Given the description of an element on the screen output the (x, y) to click on. 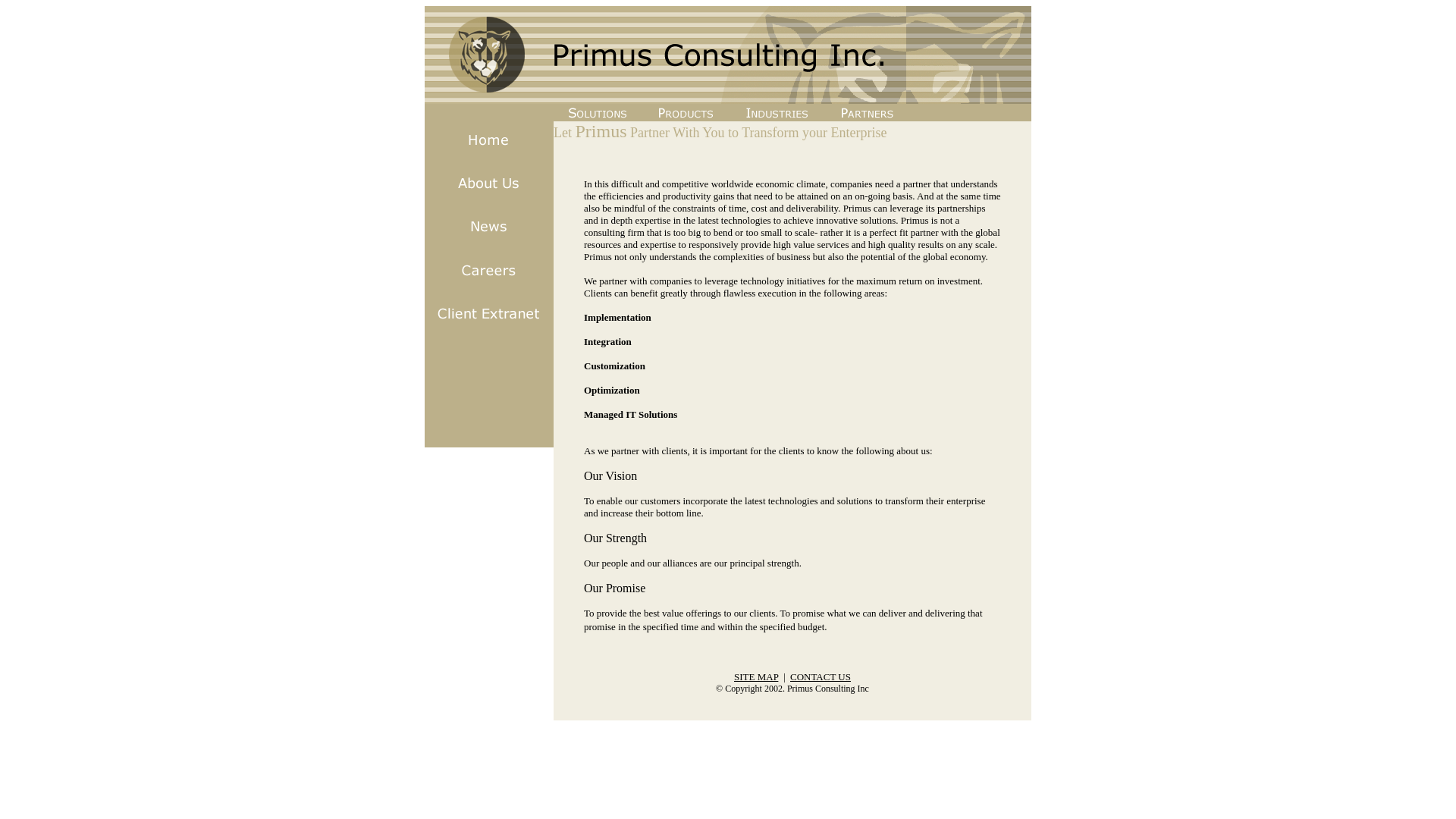
CONTACT US (820, 676)
SITE MAP (755, 676)
